Given the description of an element on the screen output the (x, y) to click on. 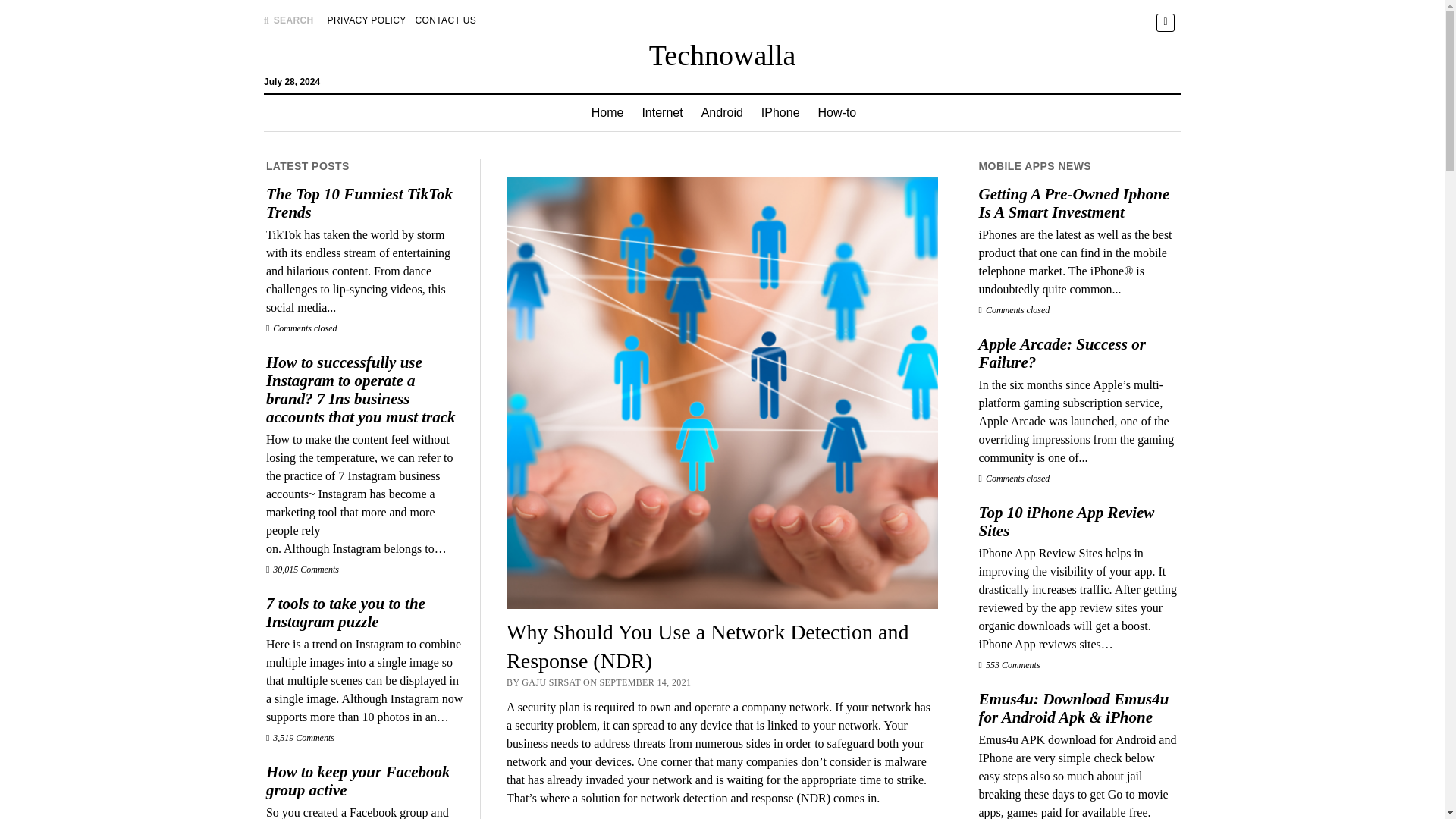
CONTACT US (445, 20)
Android (722, 113)
The Top 10 Funniest TikTok Trends (365, 203)
SEARCH (288, 20)
Home (607, 113)
Search (945, 129)
Comments closed (301, 327)
Technowalla (722, 55)
7 tools to take you to the Instagram puzzle (365, 612)
3,519 Comments (300, 737)
